Given the description of an element on the screen output the (x, y) to click on. 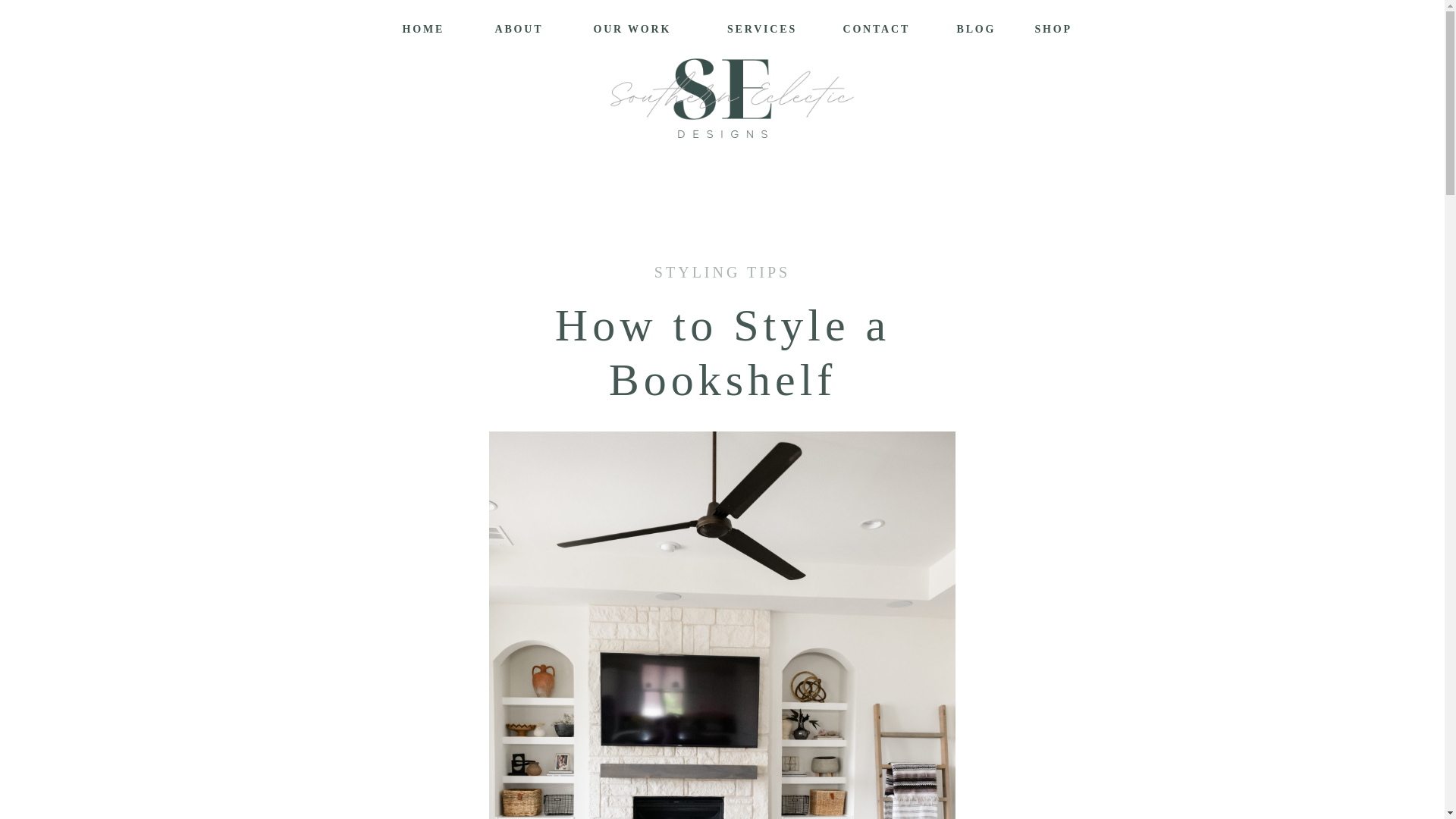
SERVICES (762, 28)
ABOUT (519, 28)
CONTACT (875, 28)
HOME (423, 28)
STYLING TIPS (721, 271)
BLOG (975, 28)
OUR WORK (638, 28)
SHOP (1055, 28)
